Given the description of an element on the screen output the (x, y) to click on. 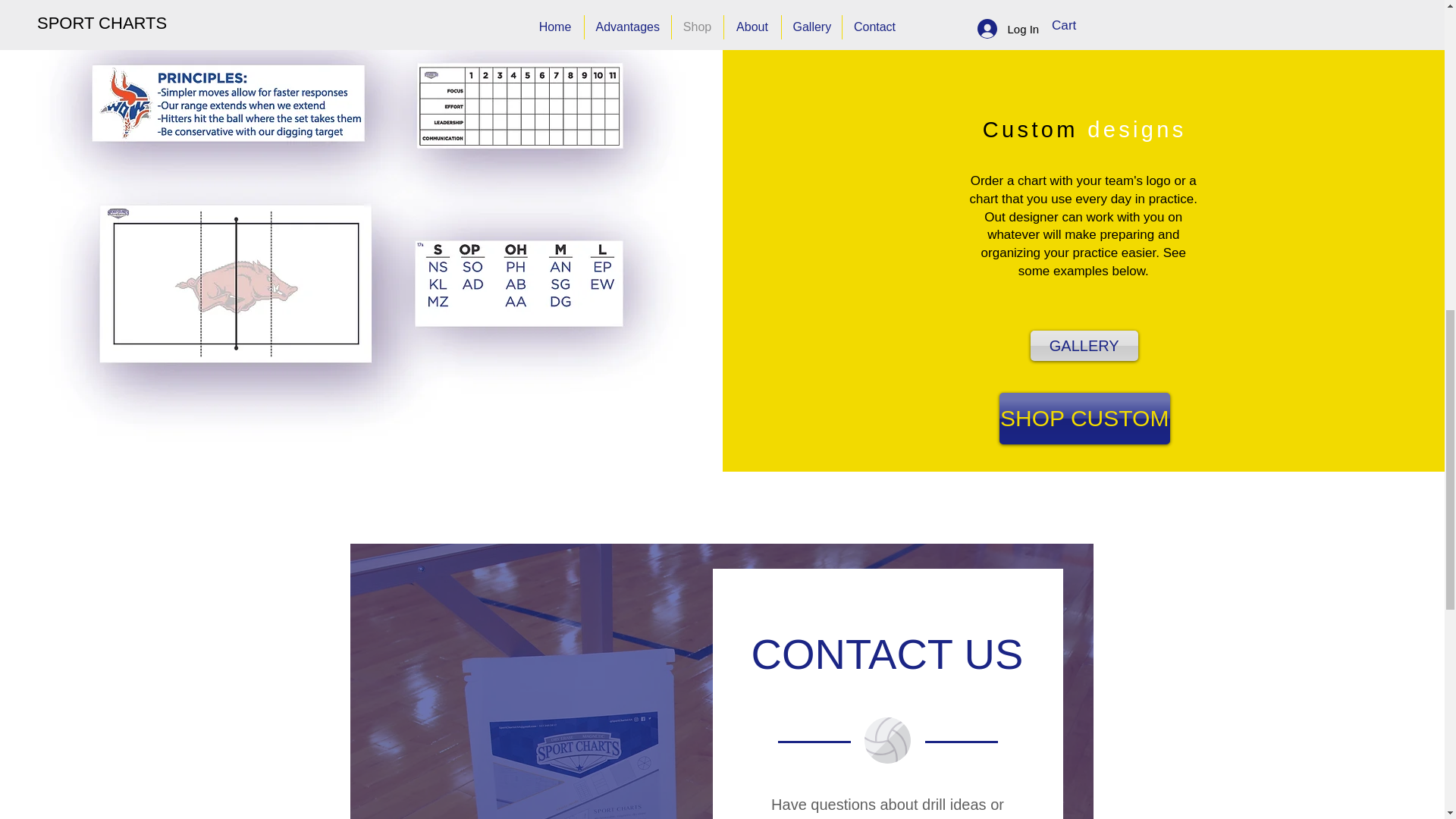
SHOP CUSTOM (1084, 418)
GALLERY (1084, 345)
